Given the description of an element on the screen output the (x, y) to click on. 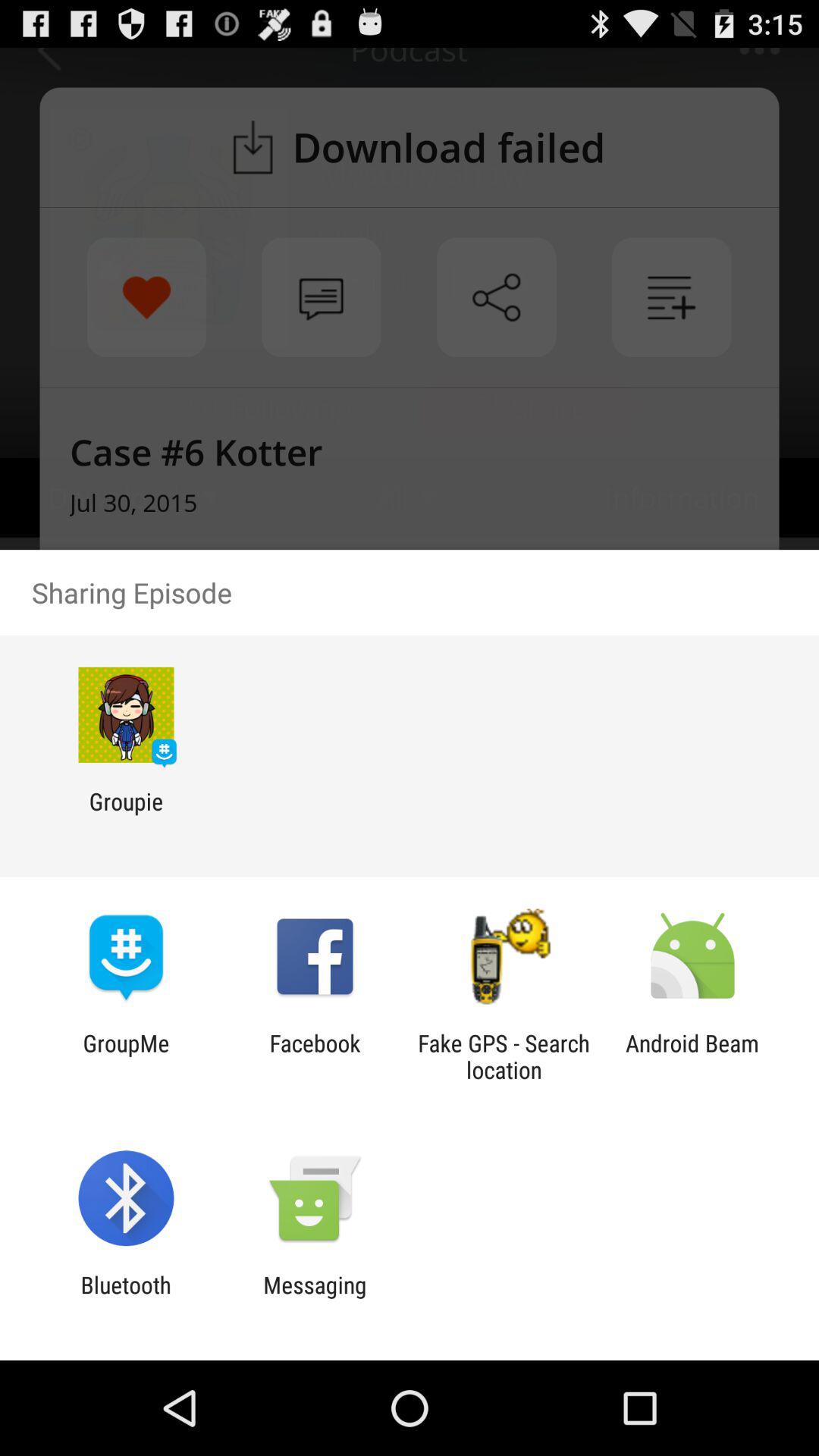
choose the messaging item (314, 1298)
